Given the description of an element on the screen output the (x, y) to click on. 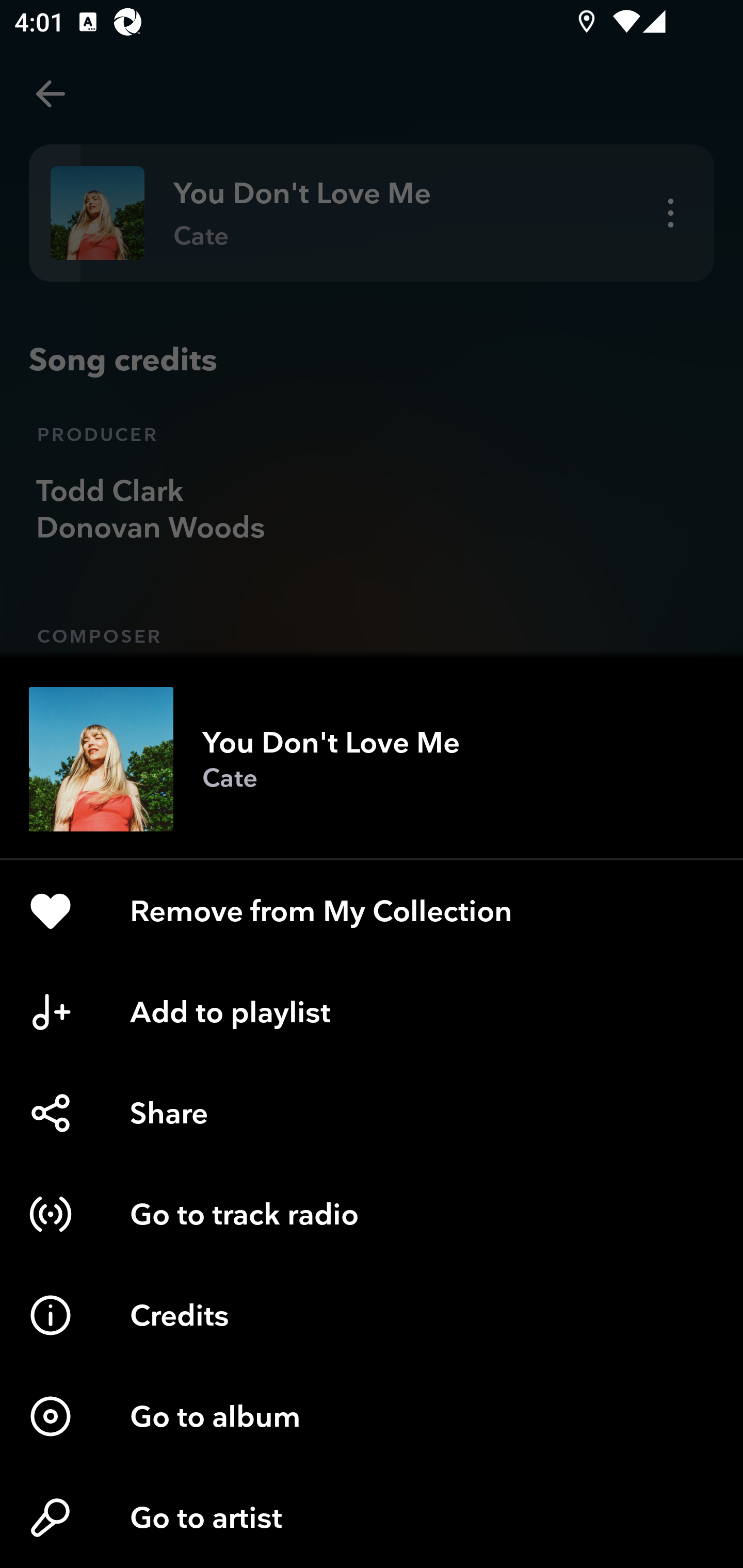
Remove from My Collection (371, 910)
Add to playlist (371, 1012)
Share (371, 1113)
Go to track radio (371, 1214)
Credits (371, 1315)
Go to album (371, 1416)
Go to artist (371, 1517)
